Given the description of an element on the screen output the (x, y) to click on. 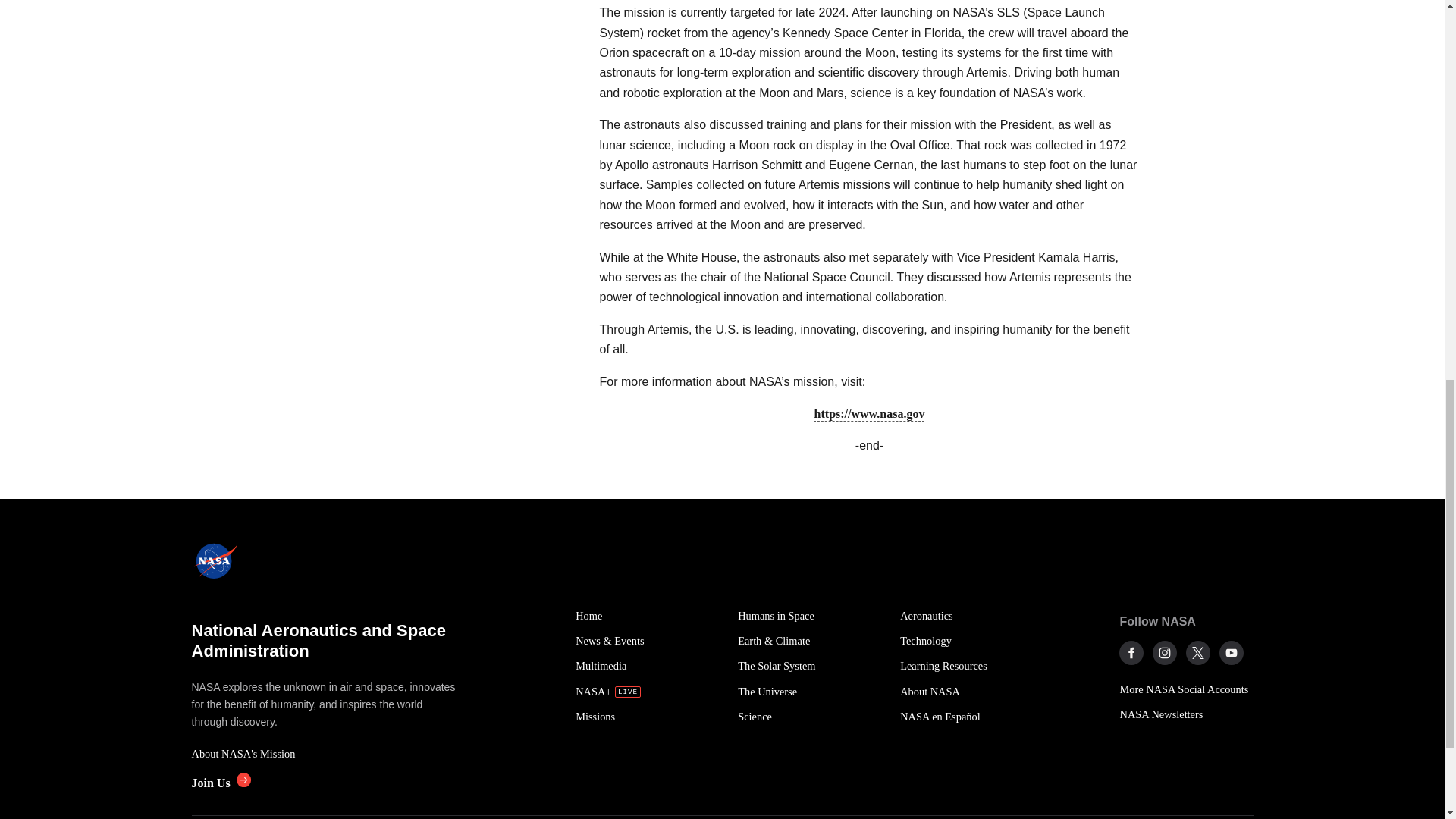
Join Us (220, 782)
Humans in Space (810, 615)
Science (810, 716)
About NASA (972, 691)
Aeronautics (972, 615)
The Universe (810, 691)
NASA on X (1197, 652)
Home (647, 615)
NASA on Instagram (1164, 652)
The Solar System (810, 665)
NASA on YouTube (1231, 652)
NASA on Facebook (1130, 652)
About NASA's Mission (324, 754)
Learning Resources (972, 665)
Technology (972, 640)
